Given the description of an element on the screen output the (x, y) to click on. 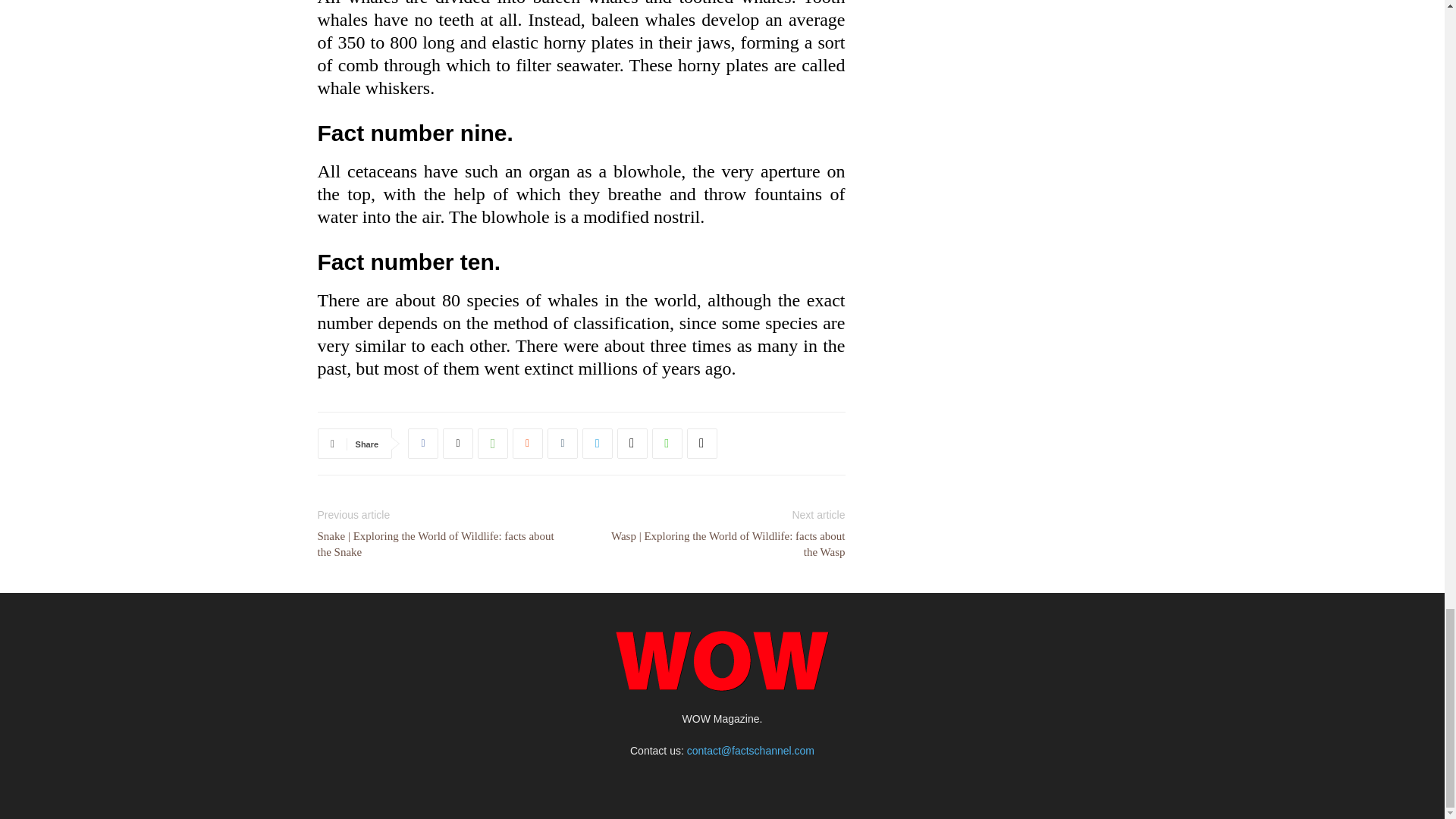
Digg (632, 443)
Tumblr (562, 443)
Facebook (422, 443)
Telegram (597, 443)
WhatsApp (492, 443)
ReddIt (527, 443)
Twitter (457, 443)
